Given the description of an element on the screen output the (x, y) to click on. 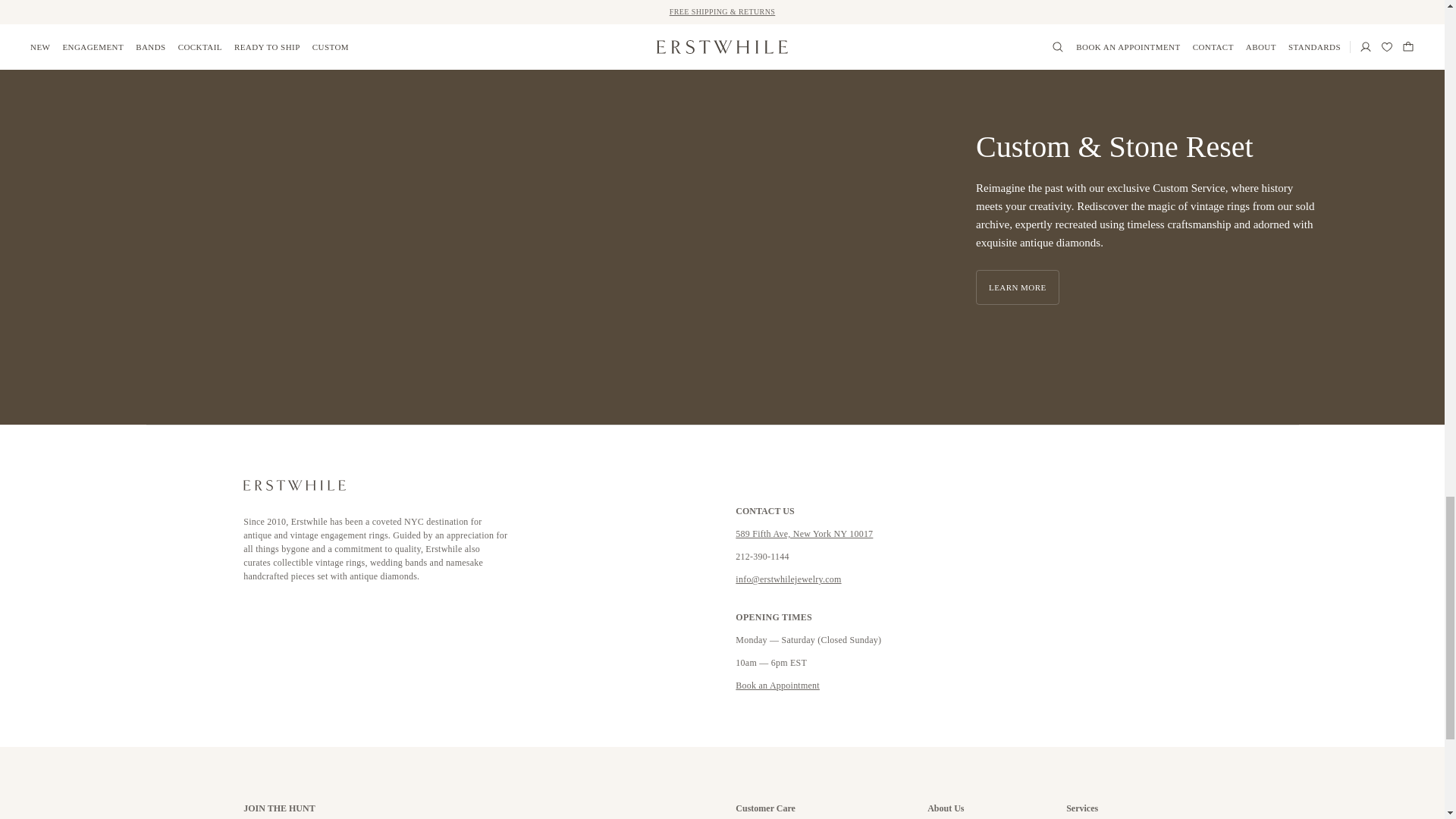
Book an Appointment (777, 685)
